Given the description of an element on the screen output the (x, y) to click on. 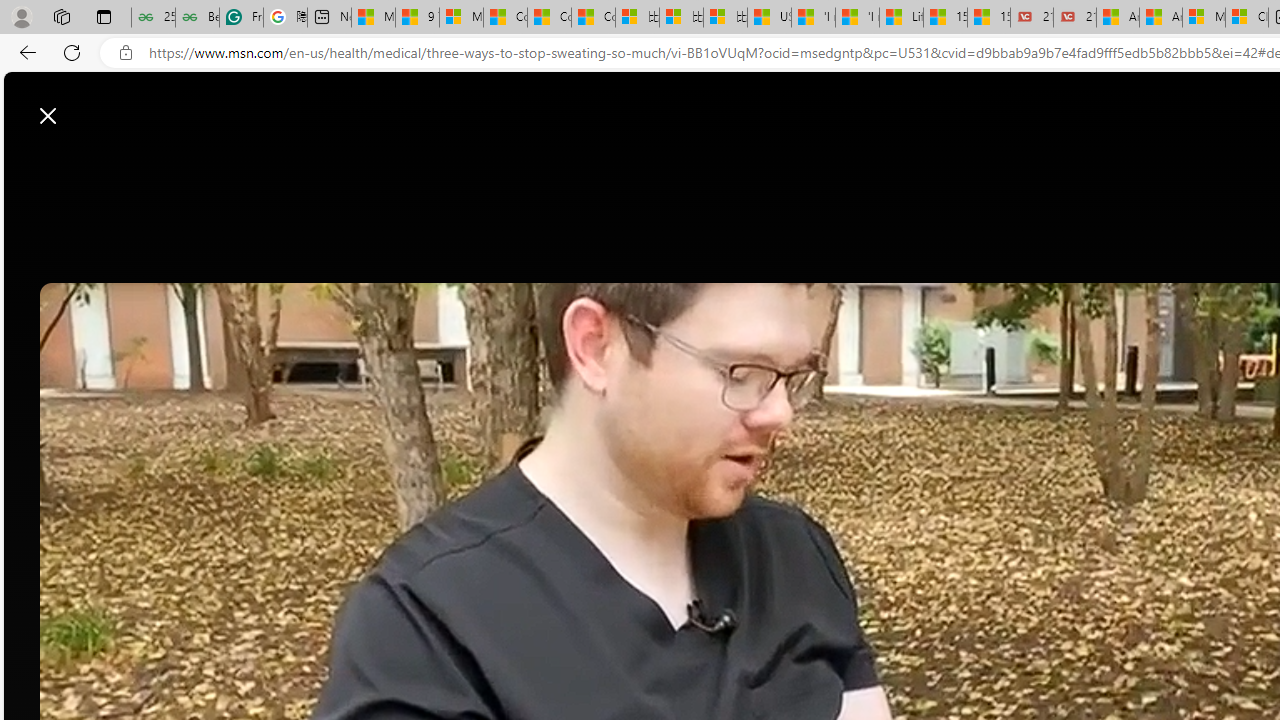
25 Basic Linux Commands For Beginners - GeeksforGeeks (153, 17)
21 Movies That Outdid the Books They Were Based On (1074, 17)
Watch (541, 162)
Open navigation menu (320, 162)
Lifestyle - MSN (900, 17)
Web search (731, 105)
Class: button-glyph (320, 162)
Free AI Writing Assistance for Students | Grammarly (241, 17)
